Given the description of an element on the screen output the (x, y) to click on. 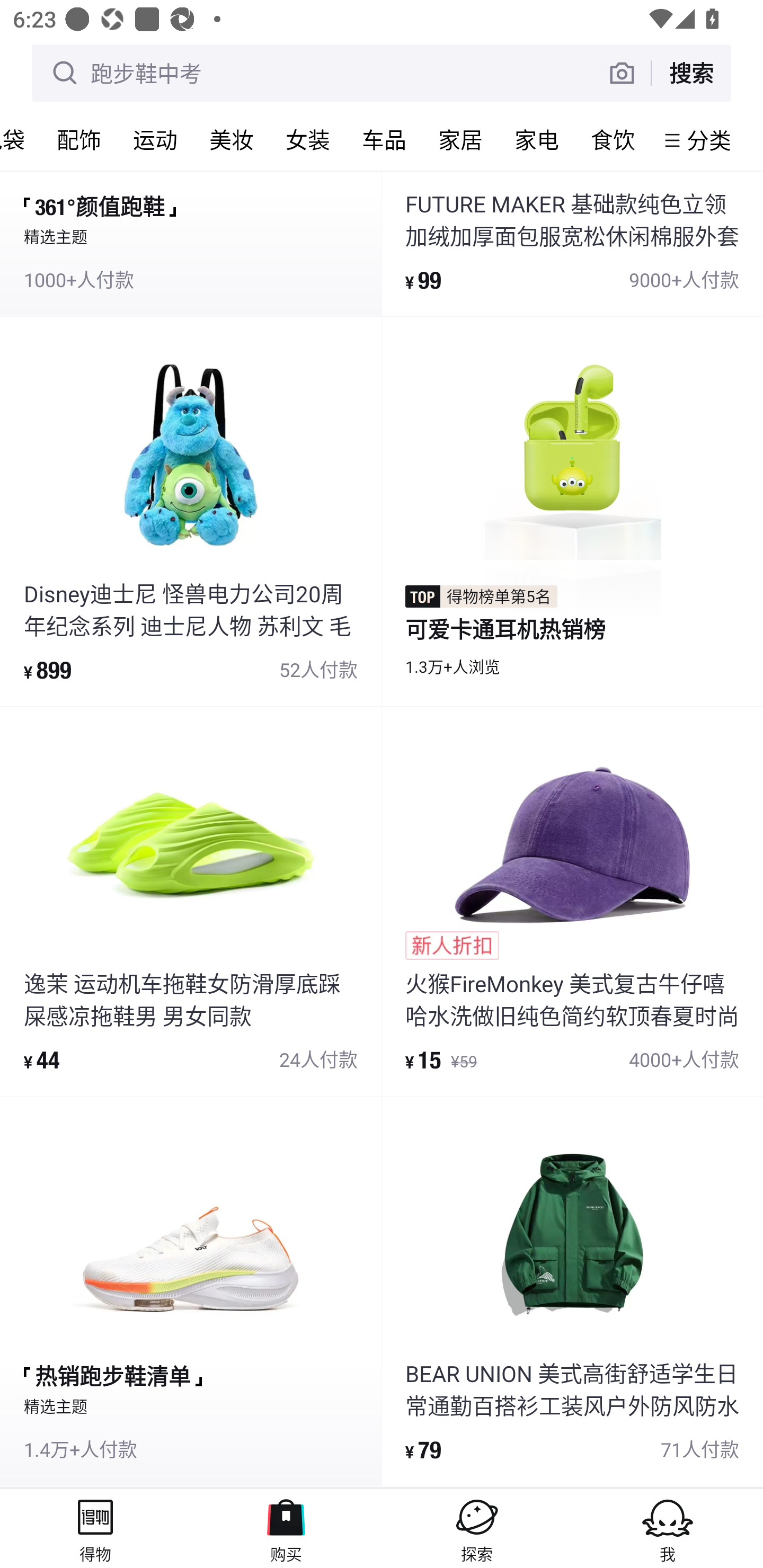
搜索 (690, 72)
配饰 (78, 139)
运动 (154, 139)
美妆 (231, 139)
女装 (307, 139)
车品 (383, 139)
家居 (459, 139)
家电 (536, 139)
食饮 (612, 139)
分类 (708, 139)
361°颜值跑鞋 精选主题 1000+人付款 (190, 243)
得物榜单第5名 可爱卡通耳机热销榜 1.3万+人浏览 (572, 510)
热销跑步鞋清单 精选主题 1.4万+人付款 (190, 1291)
得物 (95, 1528)
购买 (285, 1528)
探索 (476, 1528)
我 (667, 1528)
